Given the description of an element on the screen output the (x, y) to click on. 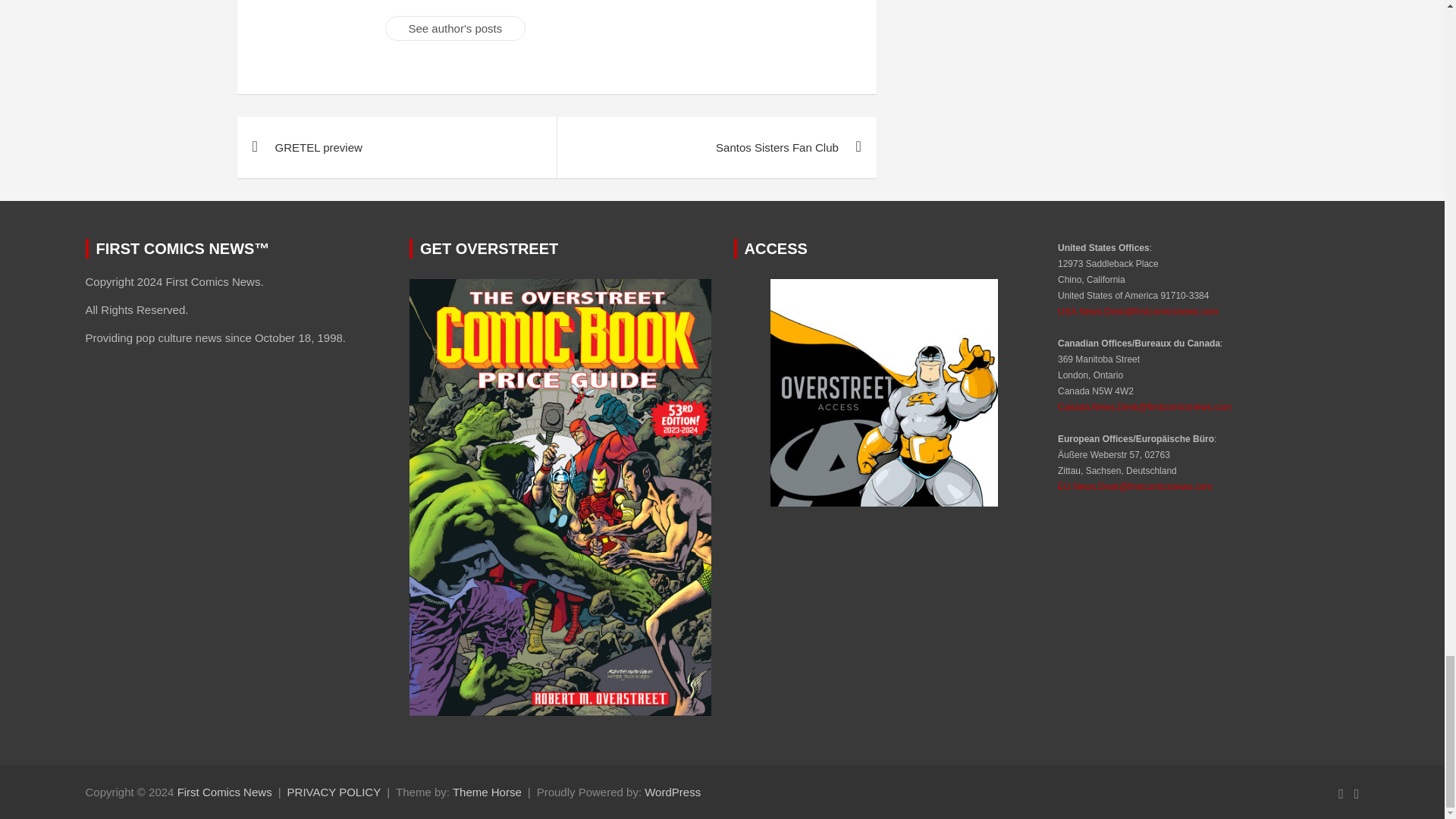
First Comics News (224, 791)
Theme Horse (486, 791)
WordPress (672, 791)
